Given the description of an element on the screen output the (x, y) to click on. 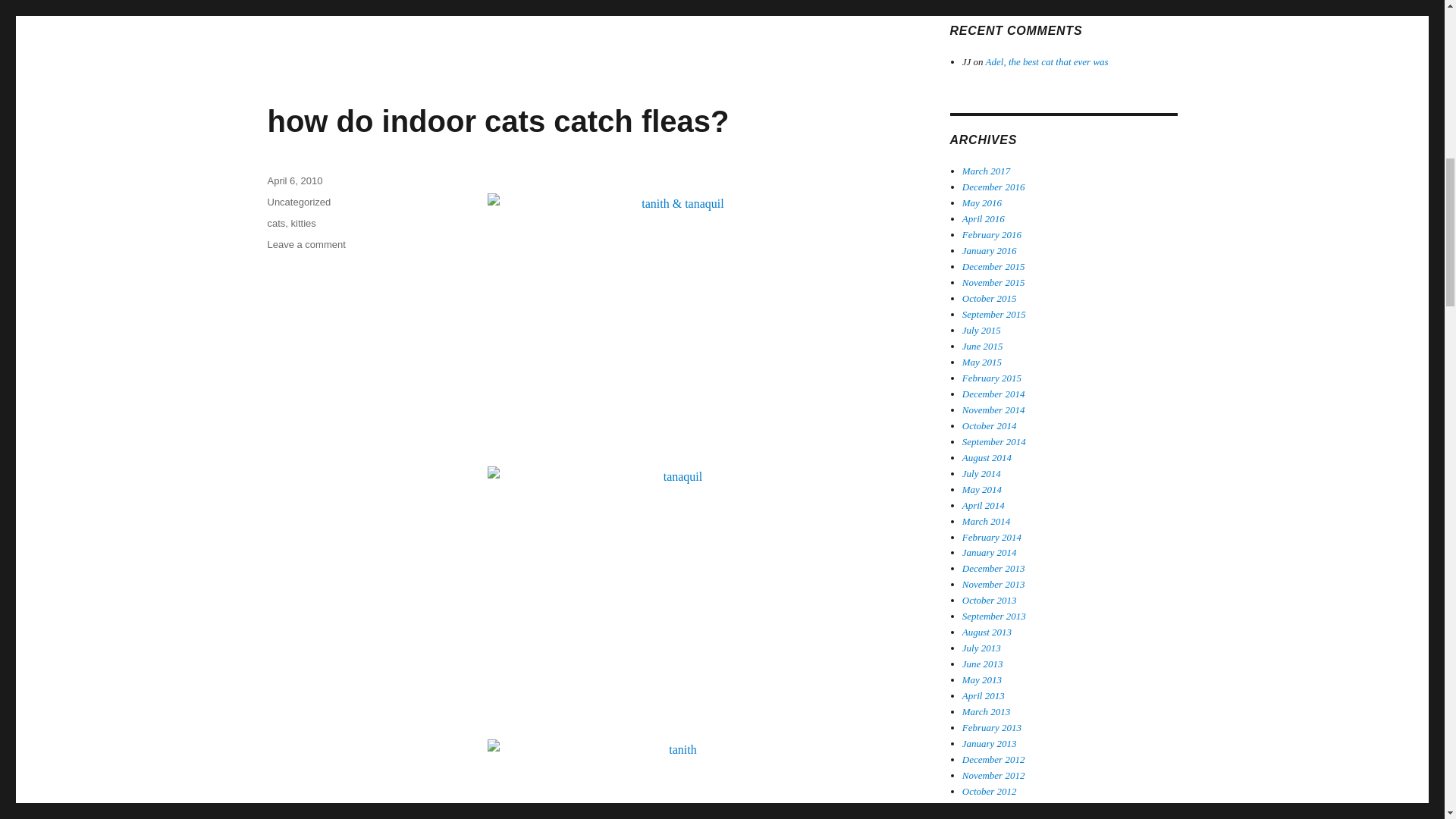
cats (275, 223)
tanaquil by Foxtongue, on Flickr (676, 592)
how do indoor cats catch fleas? (497, 121)
April 6, 2010 (293, 180)
tanith by Foxtongue, on Flickr (676, 779)
kitties (303, 223)
Uncategorized (305, 244)
